Given the description of an element on the screen output the (x, y) to click on. 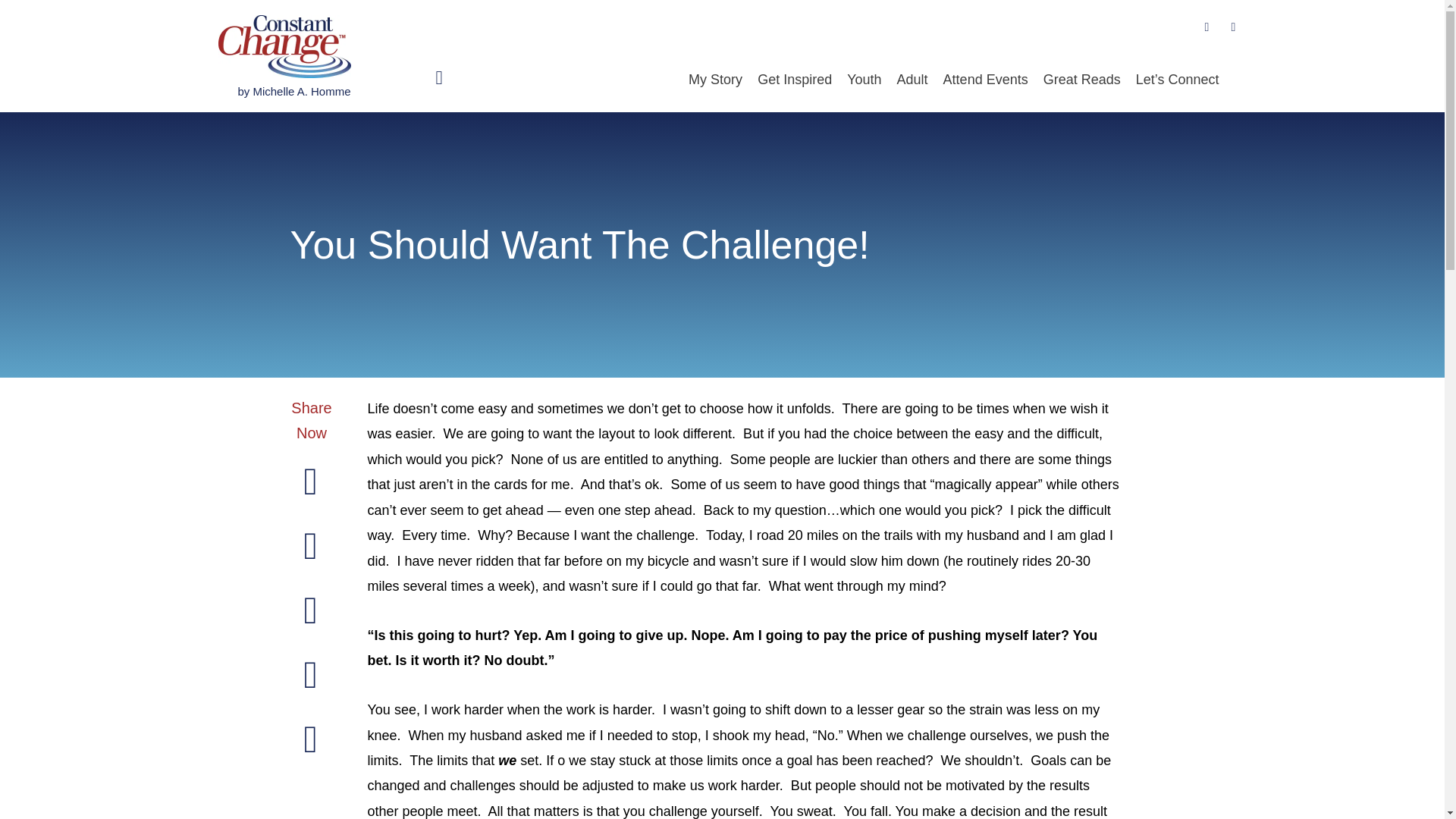
Adult (912, 79)
My Story (715, 79)
Great Reads (1081, 79)
Get Inspired (794, 79)
Attend Events (985, 79)
Youth (864, 79)
